Given the description of an element on the screen output the (x, y) to click on. 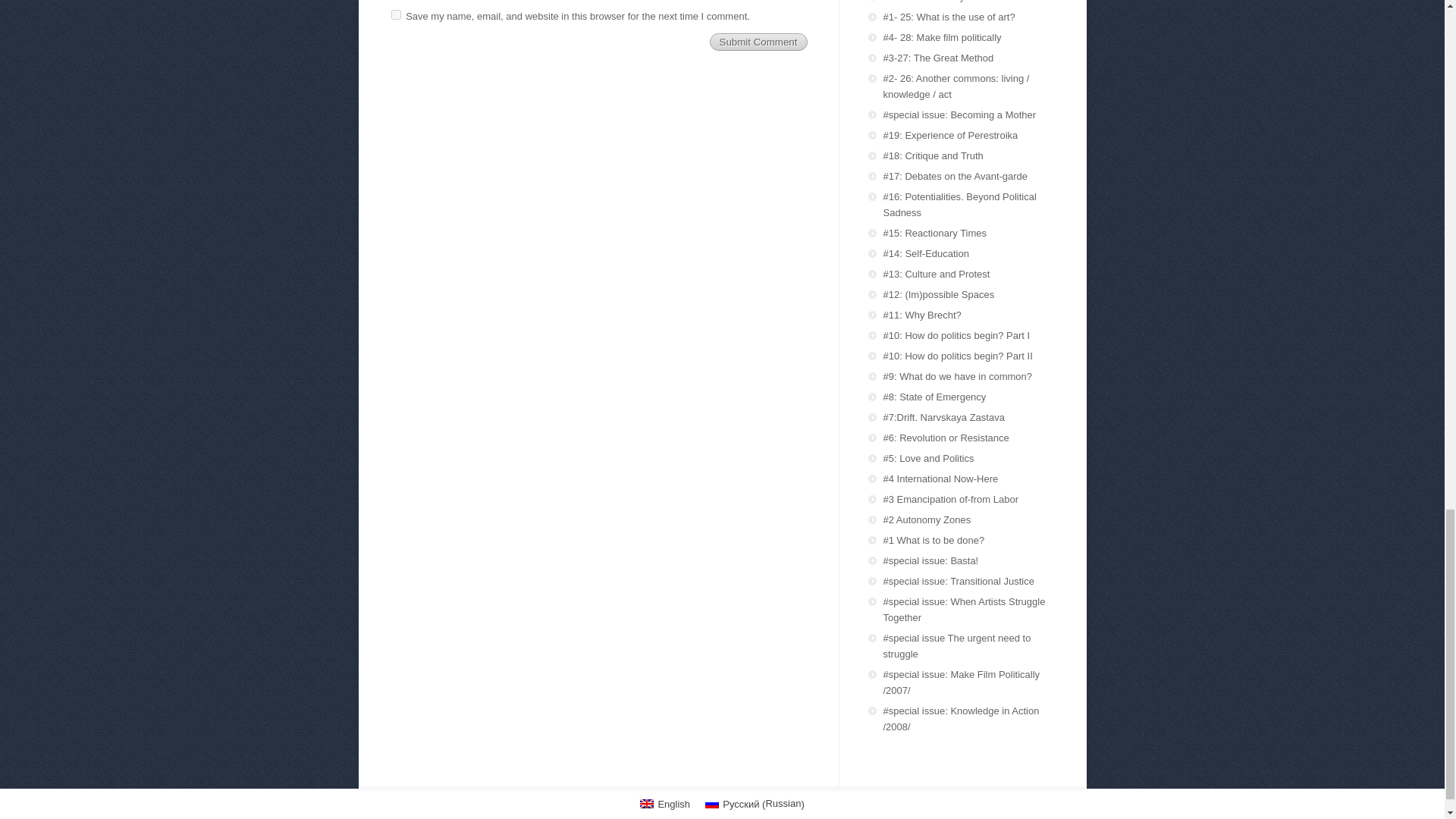
Submit Comment (759, 41)
yes (396, 14)
Submit Comment (759, 41)
